Given the description of an element on the screen output the (x, y) to click on. 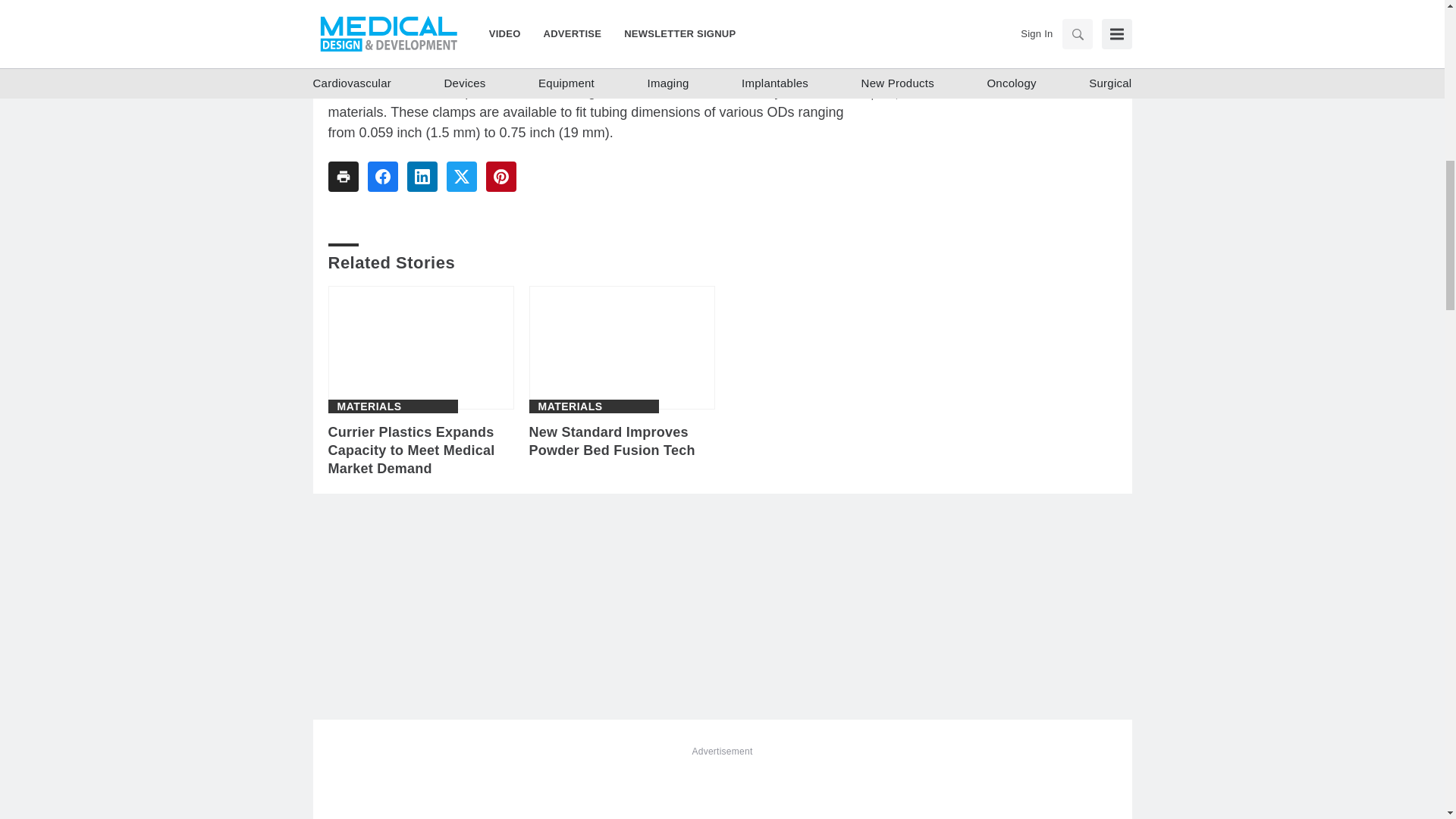
Share To facebook (381, 176)
Share To twitter (460, 176)
Share To linkedin (421, 176)
Share To print (342, 176)
Share To pinterest (499, 176)
